Given the description of an element on the screen output the (x, y) to click on. 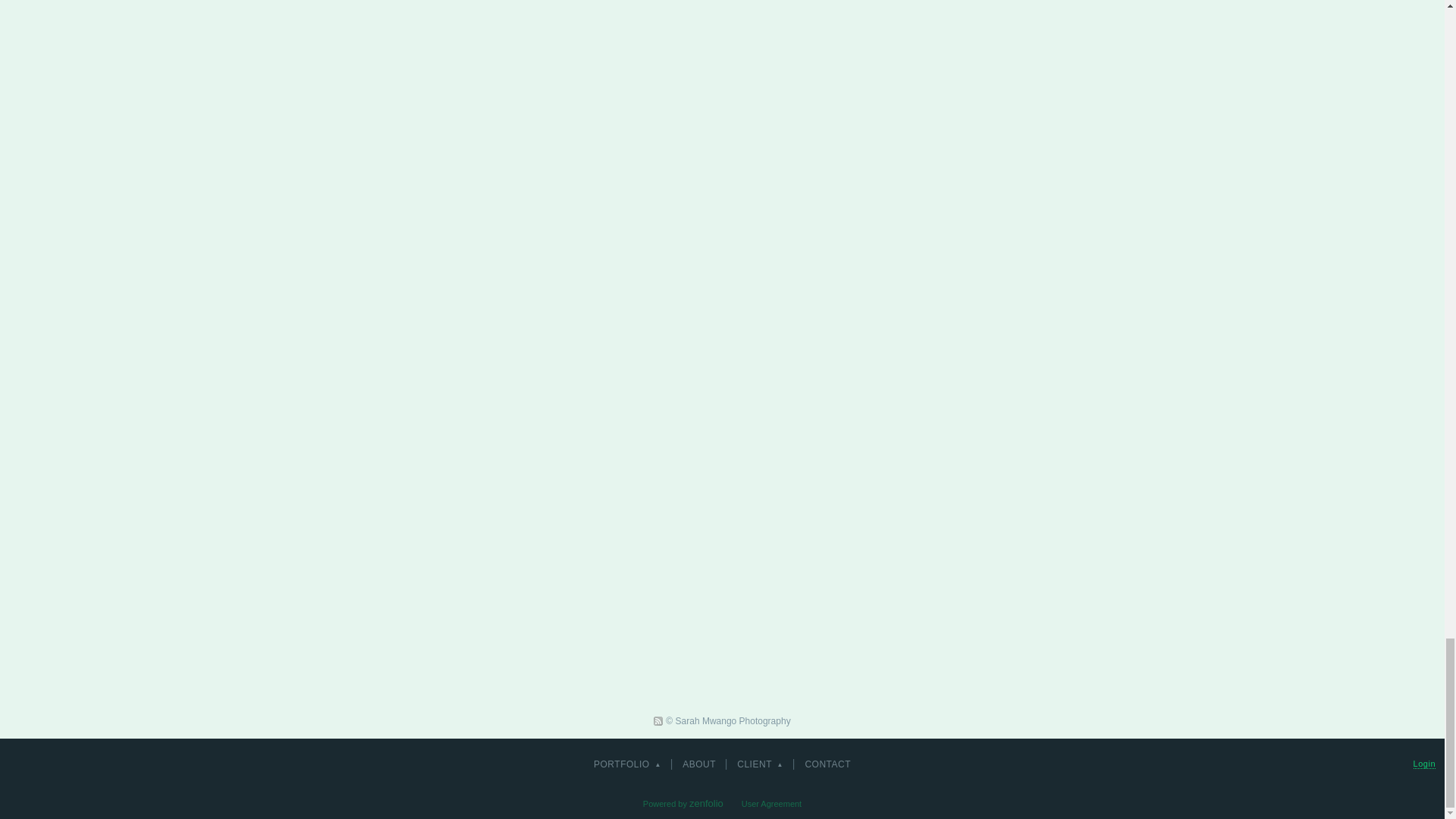
Login (1424, 764)
